Given the description of an element on the screen output the (x, y) to click on. 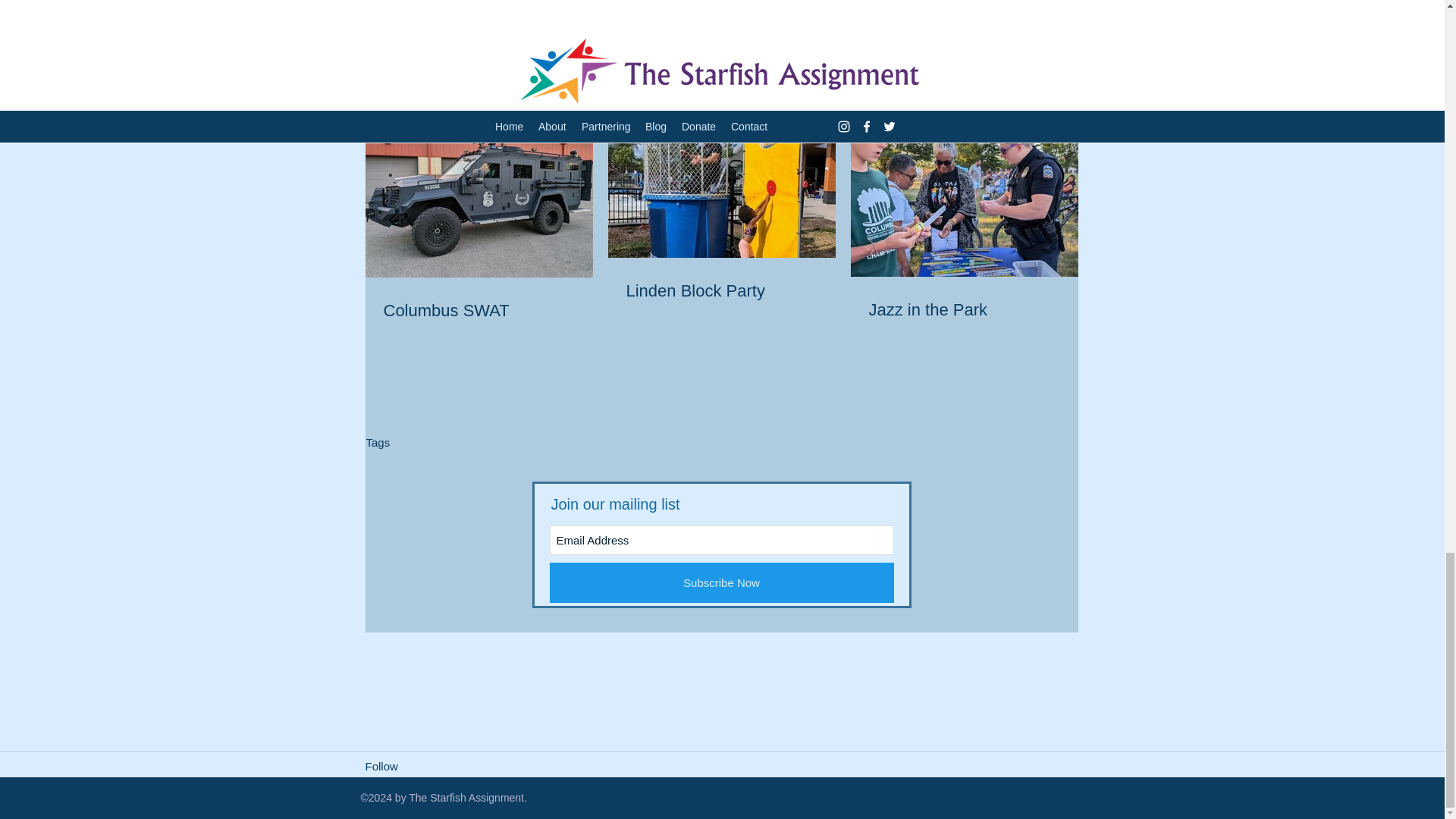
Jazz in the Park (964, 310)
Columbus SWAT (479, 310)
Subscribe Now (720, 582)
Linden Block Party (721, 291)
